Given the description of an element on the screen output the (x, y) to click on. 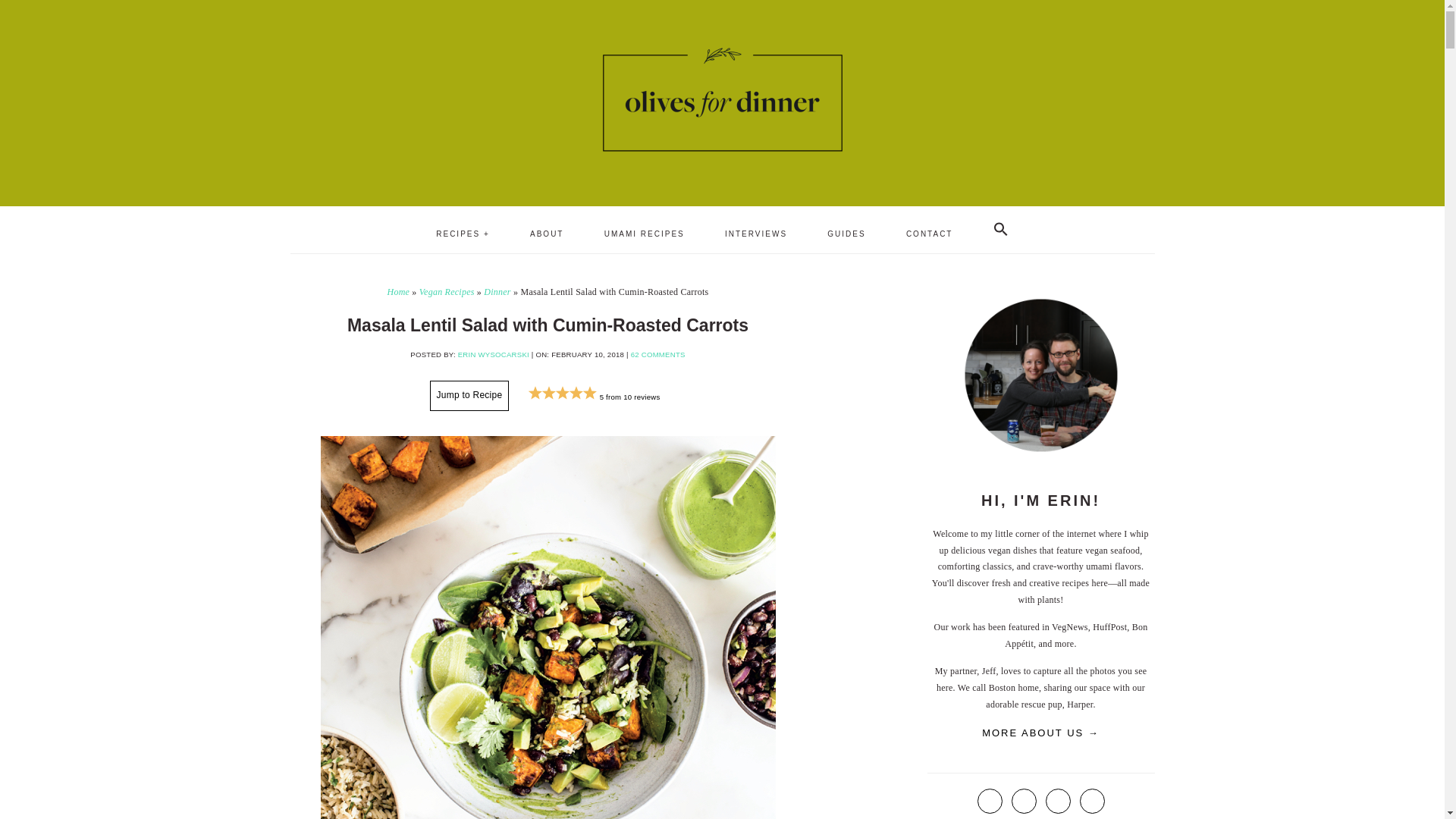
Home (398, 291)
CONTACT (929, 234)
Jump to Recipe (469, 395)
62 COMMENTS (657, 354)
Jump to Recipe (469, 395)
OLIVES FOR DINNER (721, 98)
GUIDES (845, 234)
ERIN WYSOCARSKI (493, 354)
Dinner (497, 291)
